Given the description of an element on the screen output the (x, y) to click on. 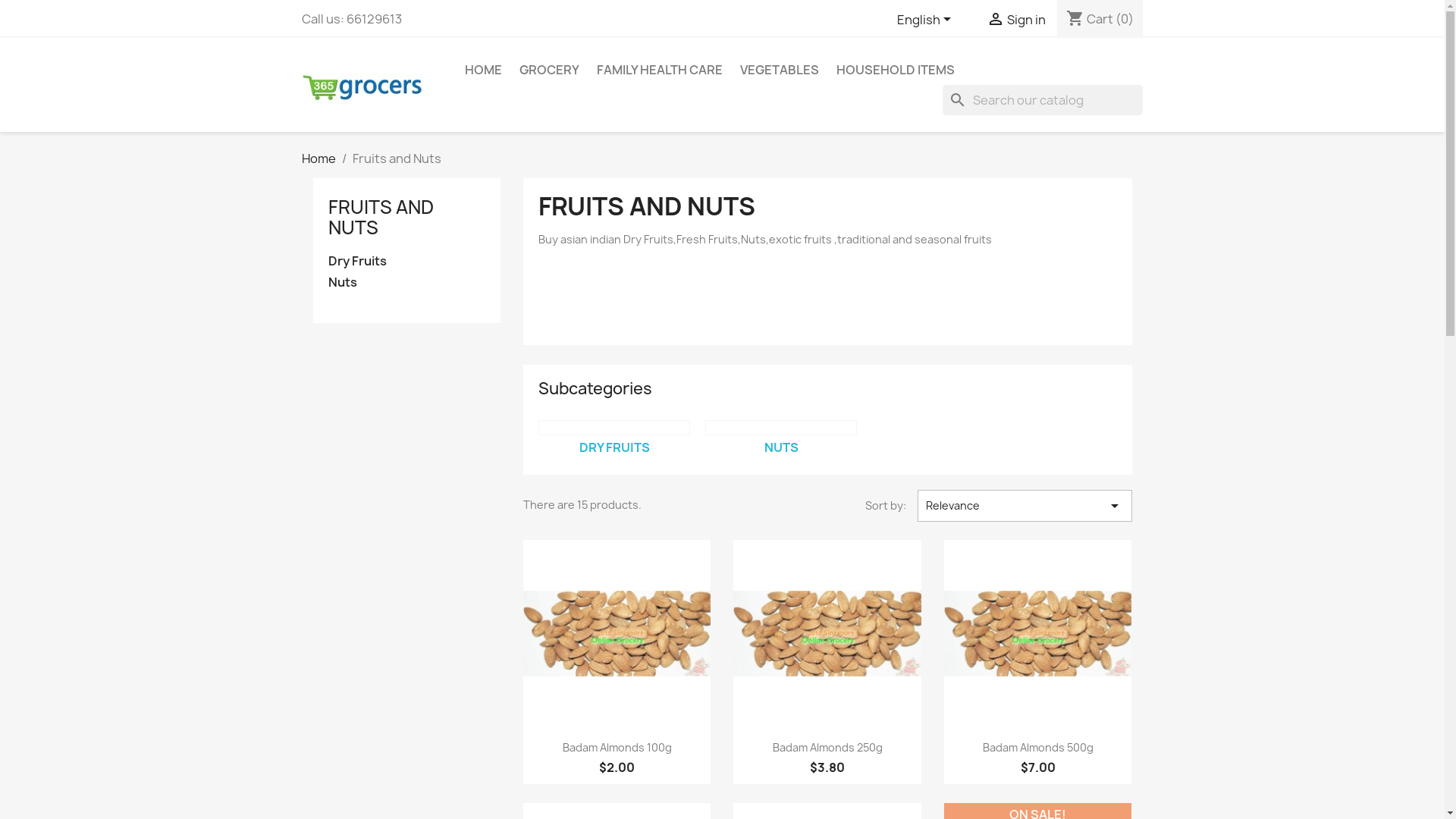
DRY FRUITS Element type: text (614, 447)
FAMILY HEALTH CARE Element type: text (658, 69)
NUTS Element type: text (781, 447)
Home Element type: text (318, 158)
HOME Element type: text (482, 69)
GROCERY Element type: text (548, 69)
HOUSEHOLD ITEMS Element type: text (894, 69)
Dry Fruits Element type: text (406, 261)
Dry Fruits Element type: hover (614, 427)
Badam Almonds 100g Element type: text (616, 747)
Badam Almonds 250g Element type: text (827, 747)
Nuts Element type: text (406, 282)
Nuts Element type: hover (780, 427)
VEGETABLES Element type: text (779, 69)
FRUITS AND NUTS Element type: text (380, 216)
Badam Almonds 500g Element type: text (1037, 747)
